Given the description of an element on the screen output the (x, y) to click on. 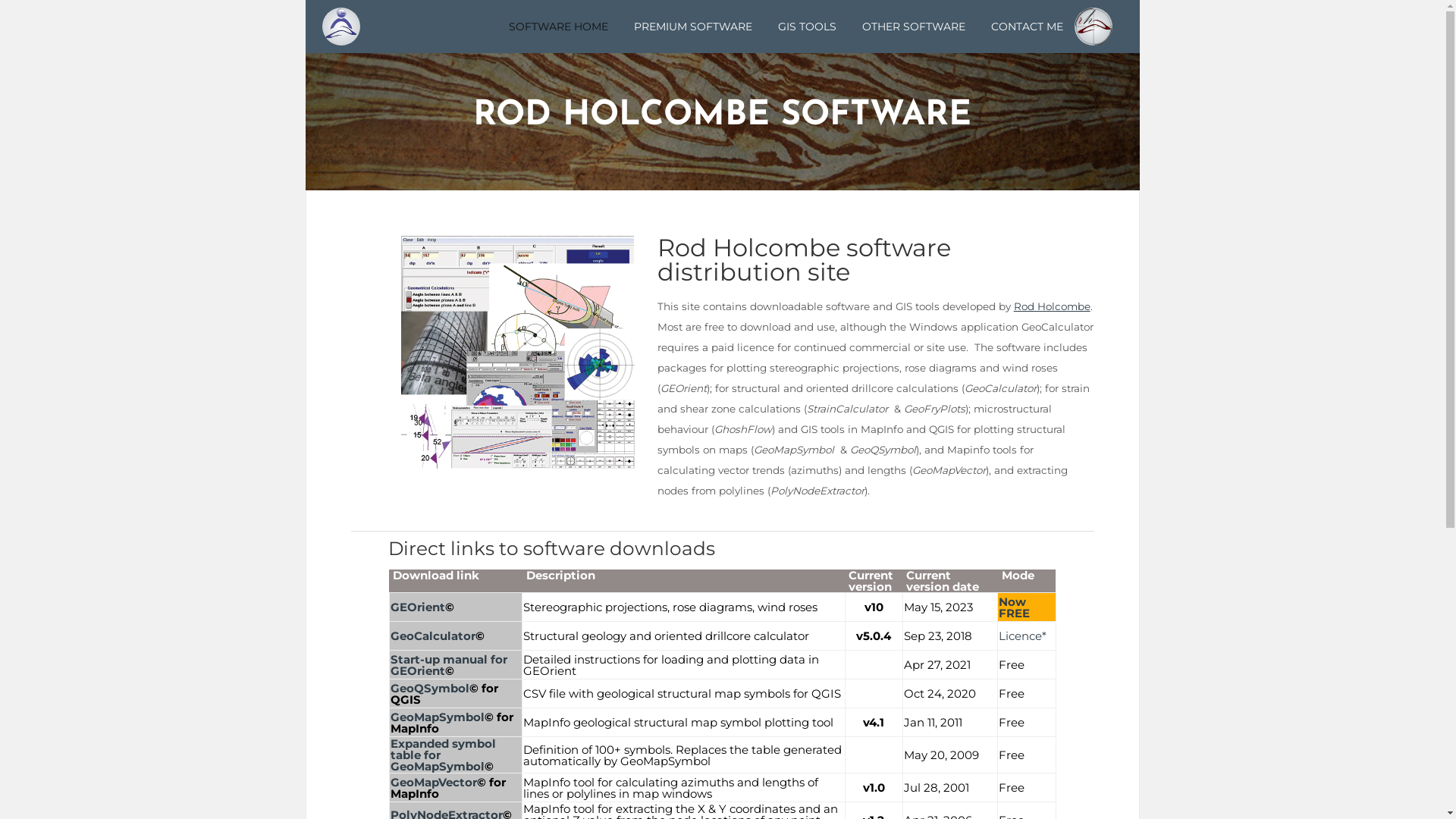
GEOrient Element type: text (416, 606)
Rod Holcombe Element type: text (1051, 306)
CONTACT ME Element type: text (1021, 26)
SOFTWARE HOME Element type: text (558, 26)
GIS TOOLS Element type: text (806, 26)
GeoCalculator Element type: text (431, 635)
GeoMapVector Element type: text (432, 782)
GeoQSymbol Element type: text (428, 687)
PREMIUM SOFTWARE Element type: text (692, 26)
Start-up manual for GEOrient Element type: text (447, 664)
OTHER SOFTWARE Element type: text (913, 26)
Link to Rod Home.. Element type: hover (1093, 26)
Link to HCOVGlobal.. Element type: hover (341, 26)
Expanded symbol table for GeoMapSymbol Element type: text (442, 754)
Licence* Element type: text (1022, 635)
Now FREE Element type: text (1013, 607)
GeoMapSymbol Element type: text (436, 716)
